Given the description of an element on the screen output the (x, y) to click on. 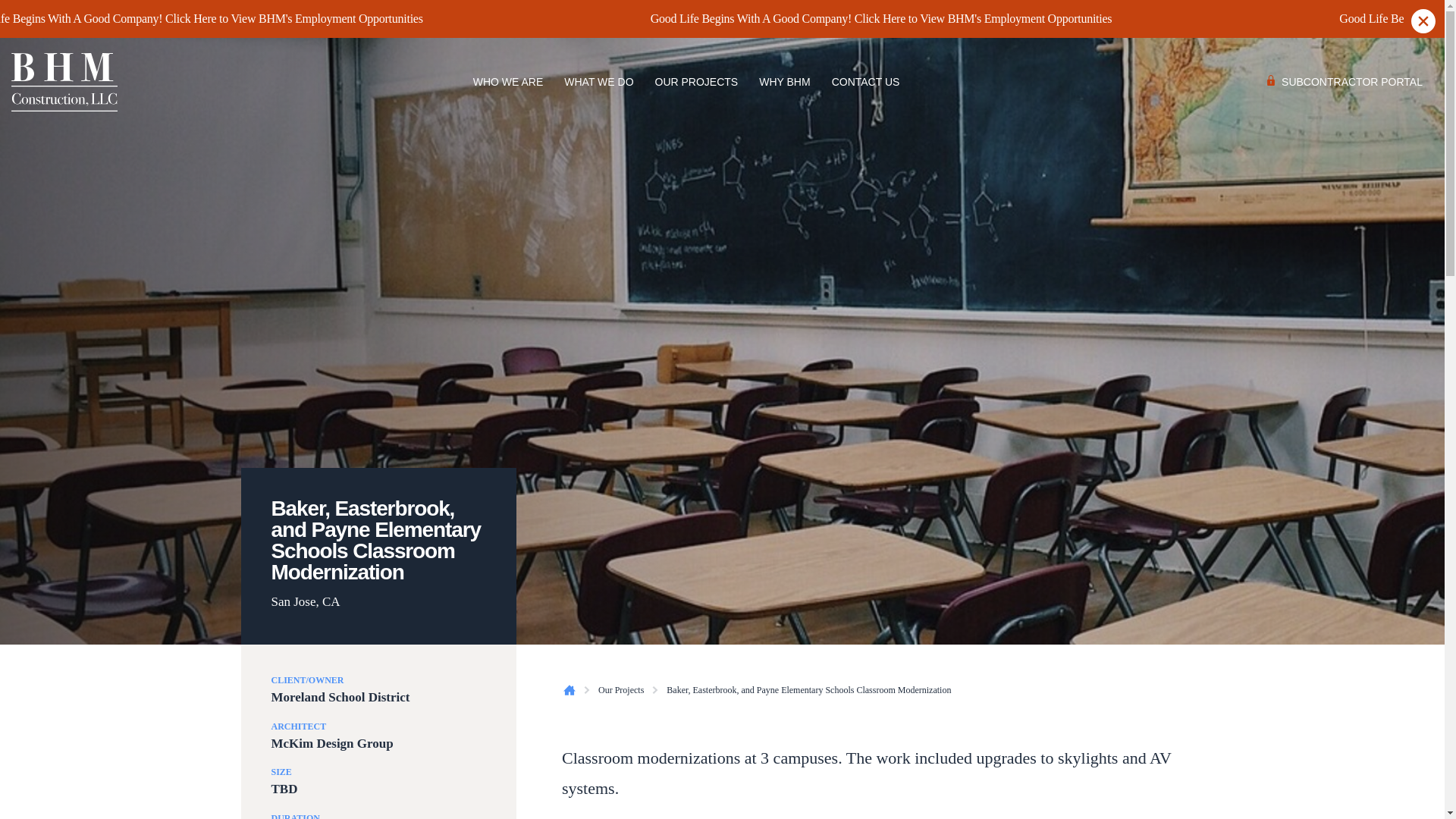
WHAT WE DO (598, 81)
OUR PROJECTS (697, 81)
WHO WE ARE (508, 81)
